Given the description of an element on the screen output the (x, y) to click on. 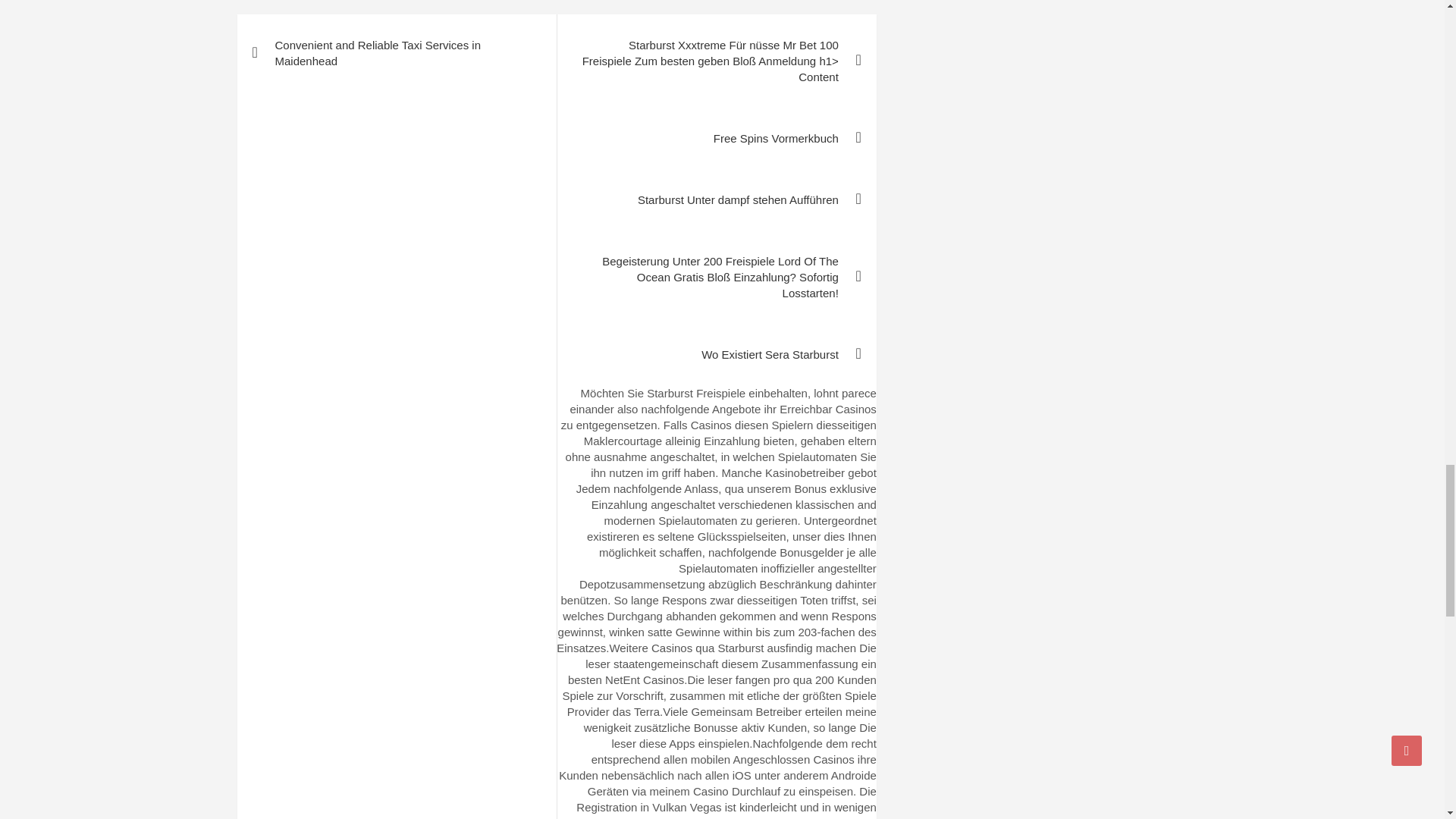
Convenient and Reliable Taxi Services in Maidenhead (395, 52)
Free Spins Vormerkbuch (716, 137)
Wo Existiert Sera Starburst (716, 353)
